Given the description of an element on the screen output the (x, y) to click on. 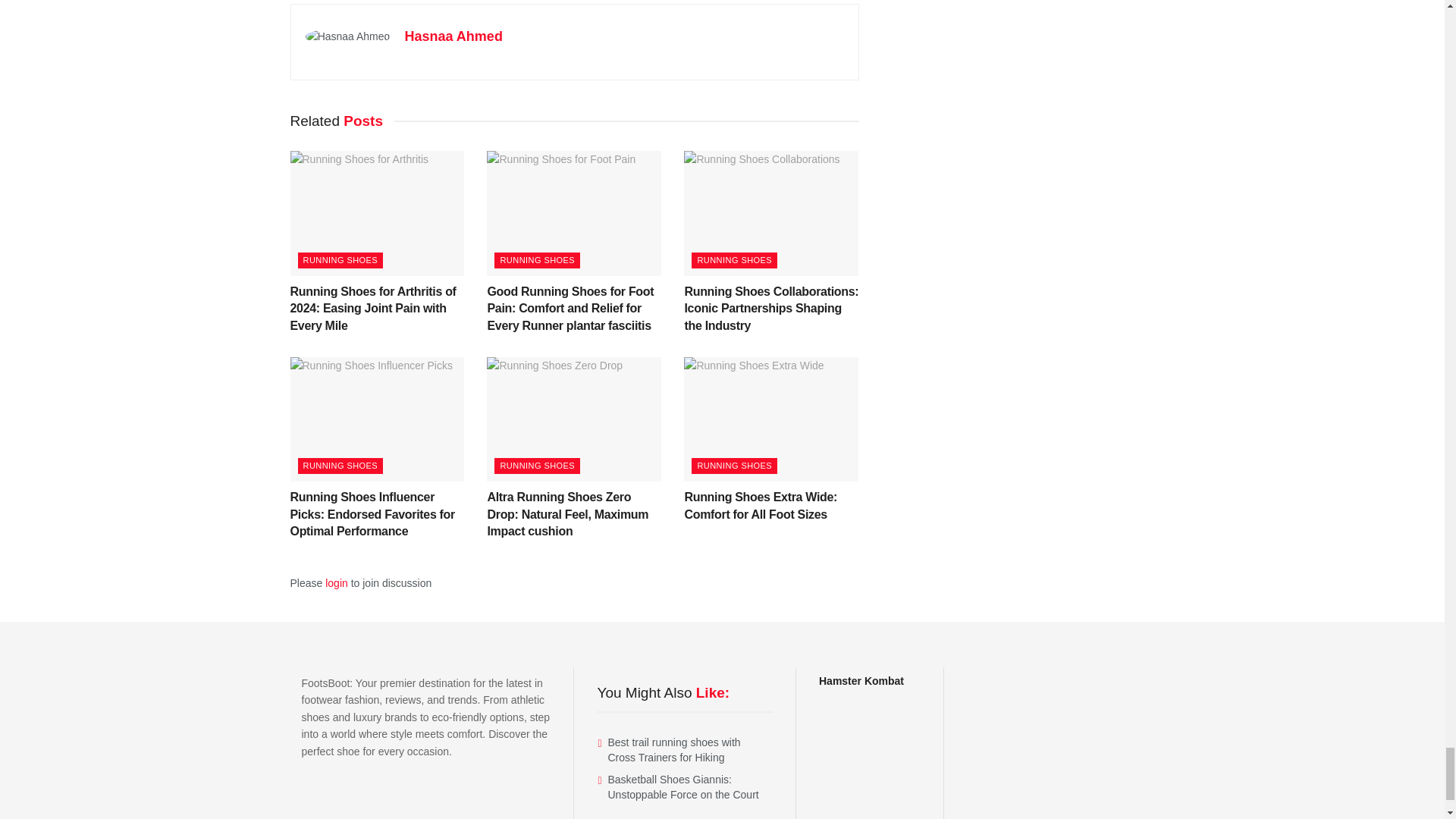
Running Shoes Extra Wide: Comfort for All Foot Sizes 13 (771, 419)
